Given the description of an element on the screen output the (x, y) to click on. 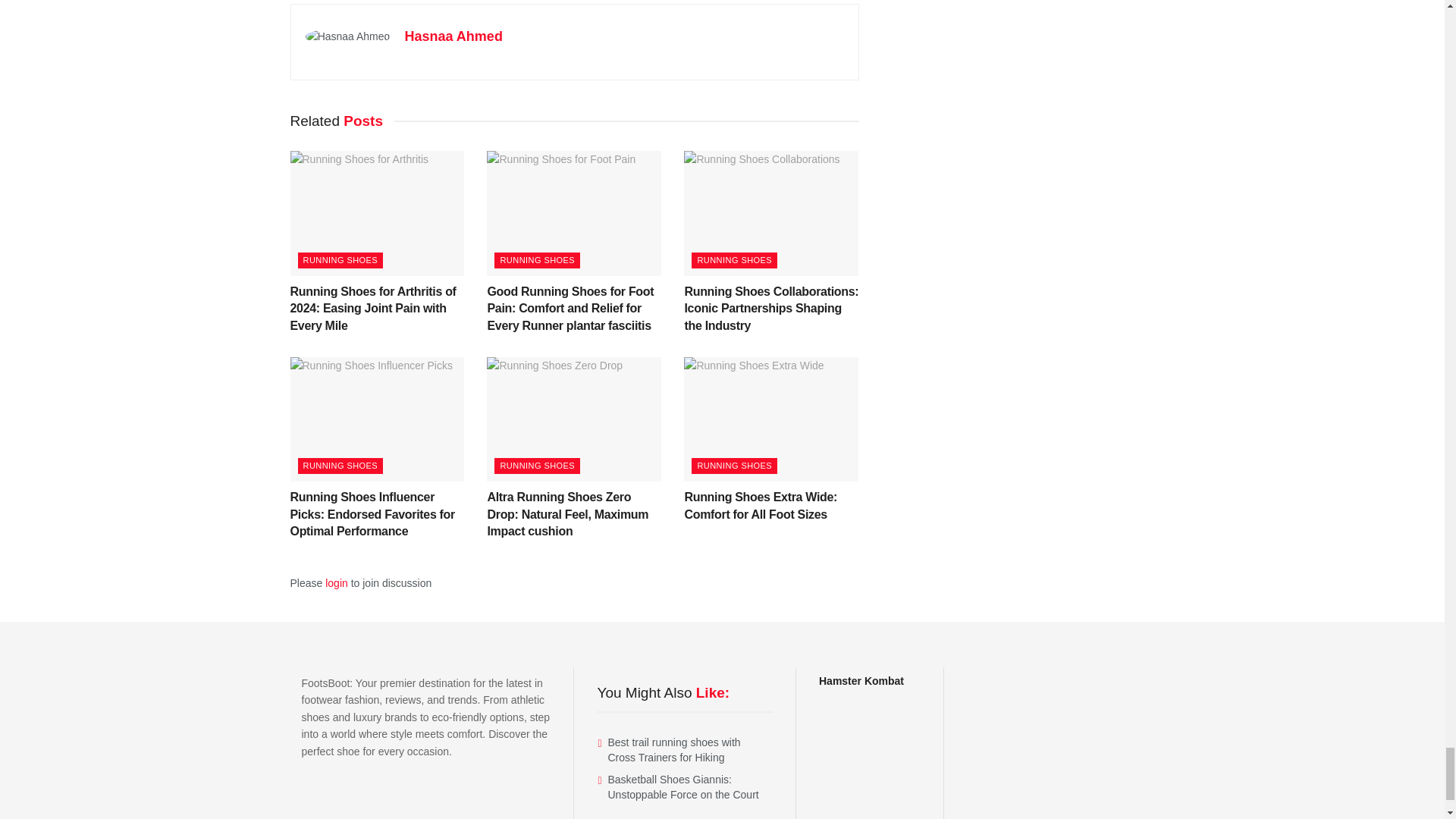
Running Shoes Extra Wide: Comfort for All Foot Sizes 13 (771, 419)
